Given the description of an element on the screen output the (x, y) to click on. 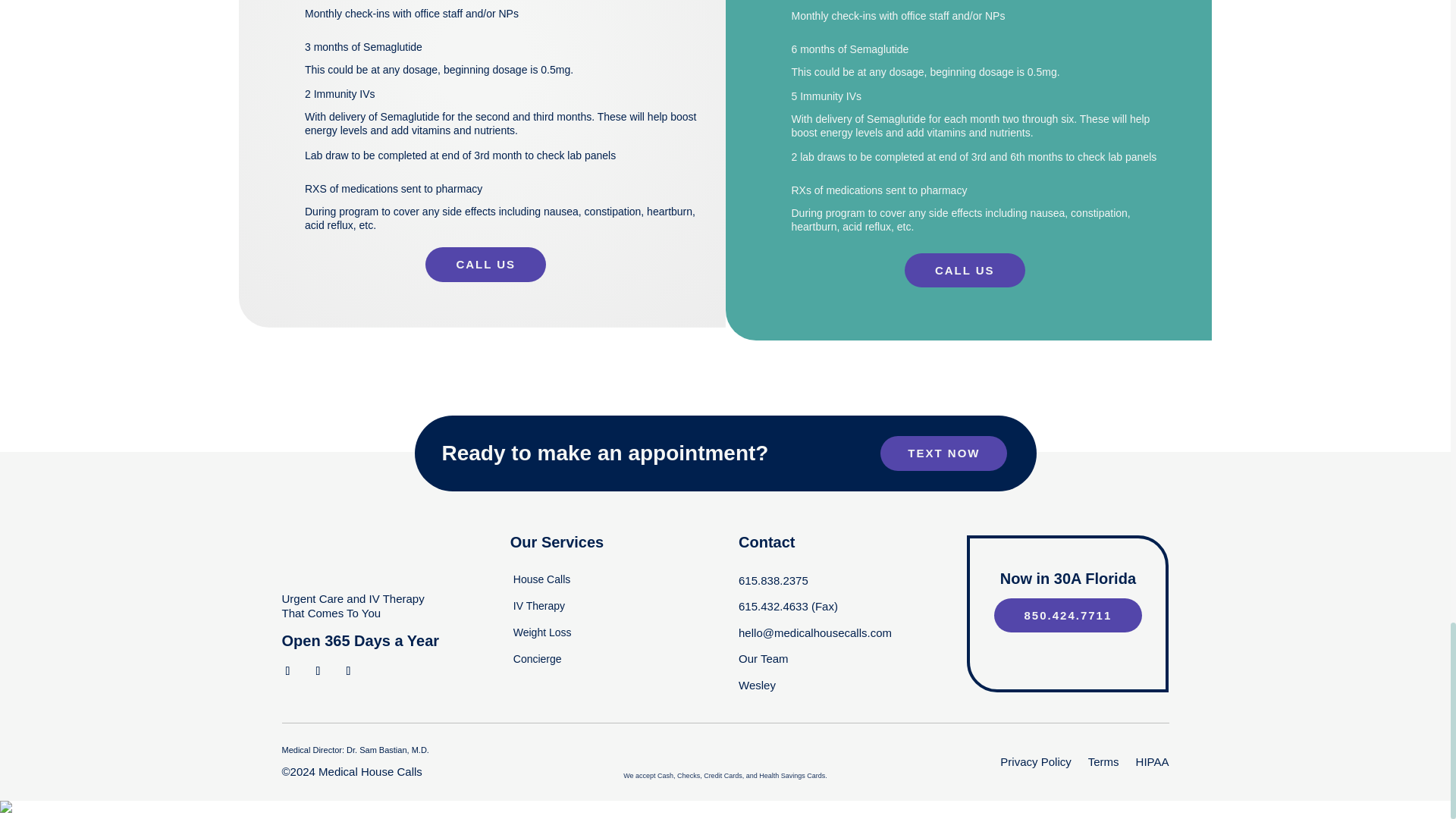
Follow on Facebook (287, 671)
Follow on Instagram (317, 671)
Methods (724, 758)
Follow on LinkedIn (348, 671)
